Given the description of an element on the screen output the (x, y) to click on. 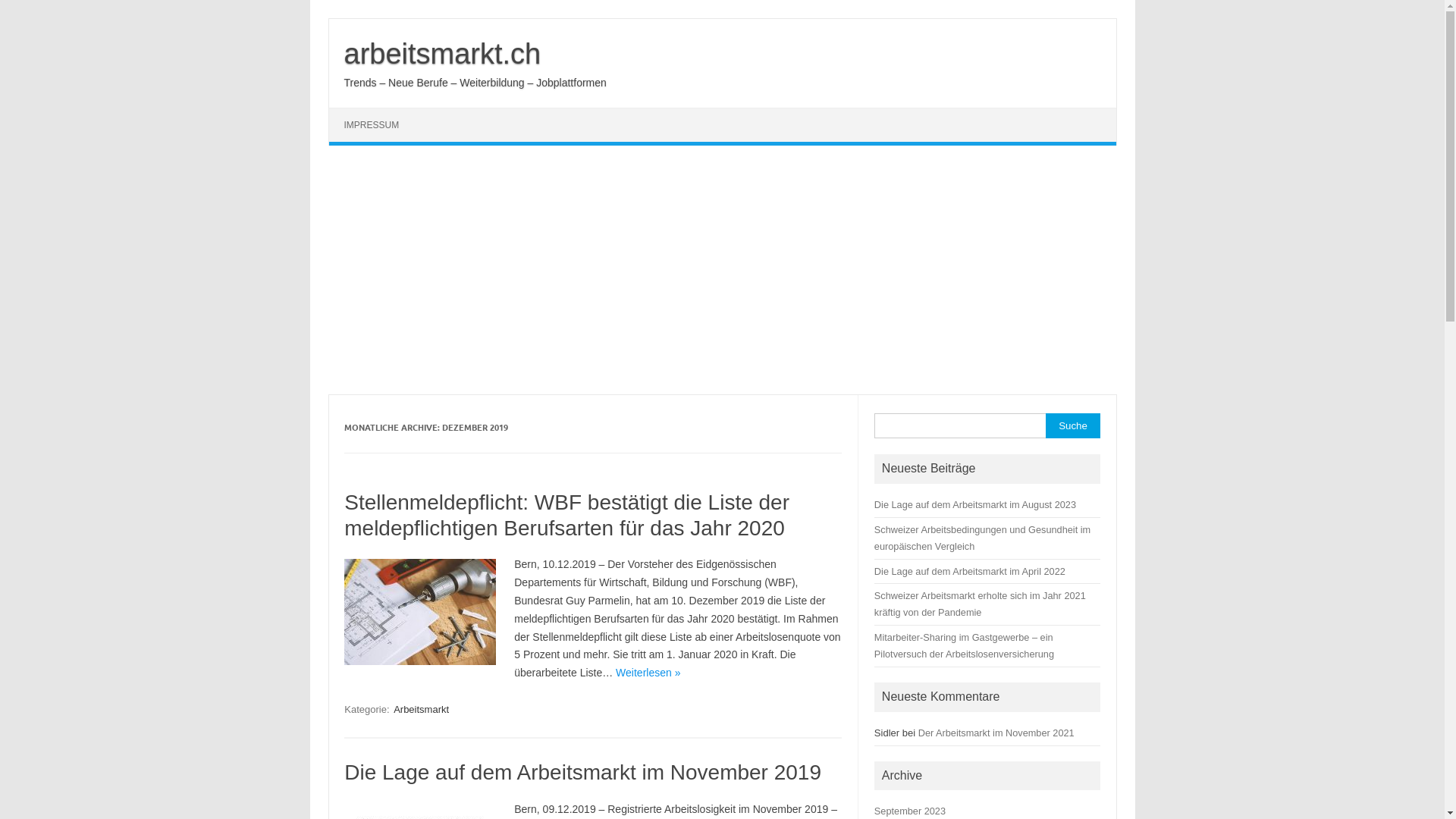
Advertisement Element type: hover (721, 269)
Die Lage auf dem Arbeitsmarkt im August 2023 Element type: text (975, 504)
Zum Inhalt springen Element type: text (327, 17)
Die Lage auf dem Arbeitsmarkt im April 2022 Element type: text (969, 571)
arbeitsmarkt.ch Element type: text (442, 53)
Arbeitsmarkt Element type: text (421, 709)
September 2023 Element type: text (909, 810)
Die Lage auf dem Arbeitsmarkt im November 2019 Element type: text (582, 772)
Der Arbeitsmarkt im November 2021 Element type: text (996, 732)
IMPRESSUM Element type: text (371, 124)
Suche Element type: text (1072, 425)
